Given the description of an element on the screen output the (x, y) to click on. 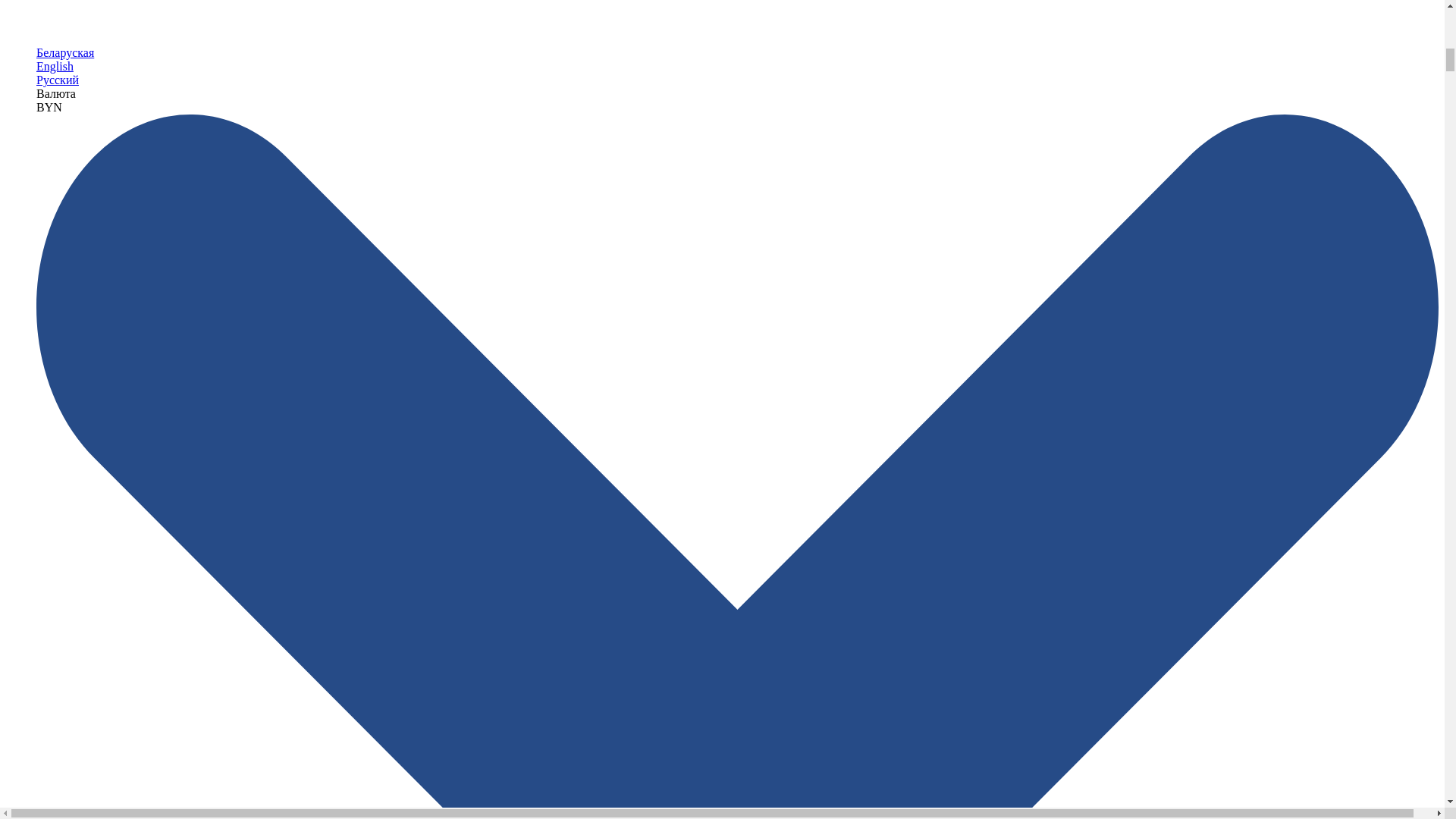
English (55, 65)
